Given the description of an element on the screen output the (x, y) to click on. 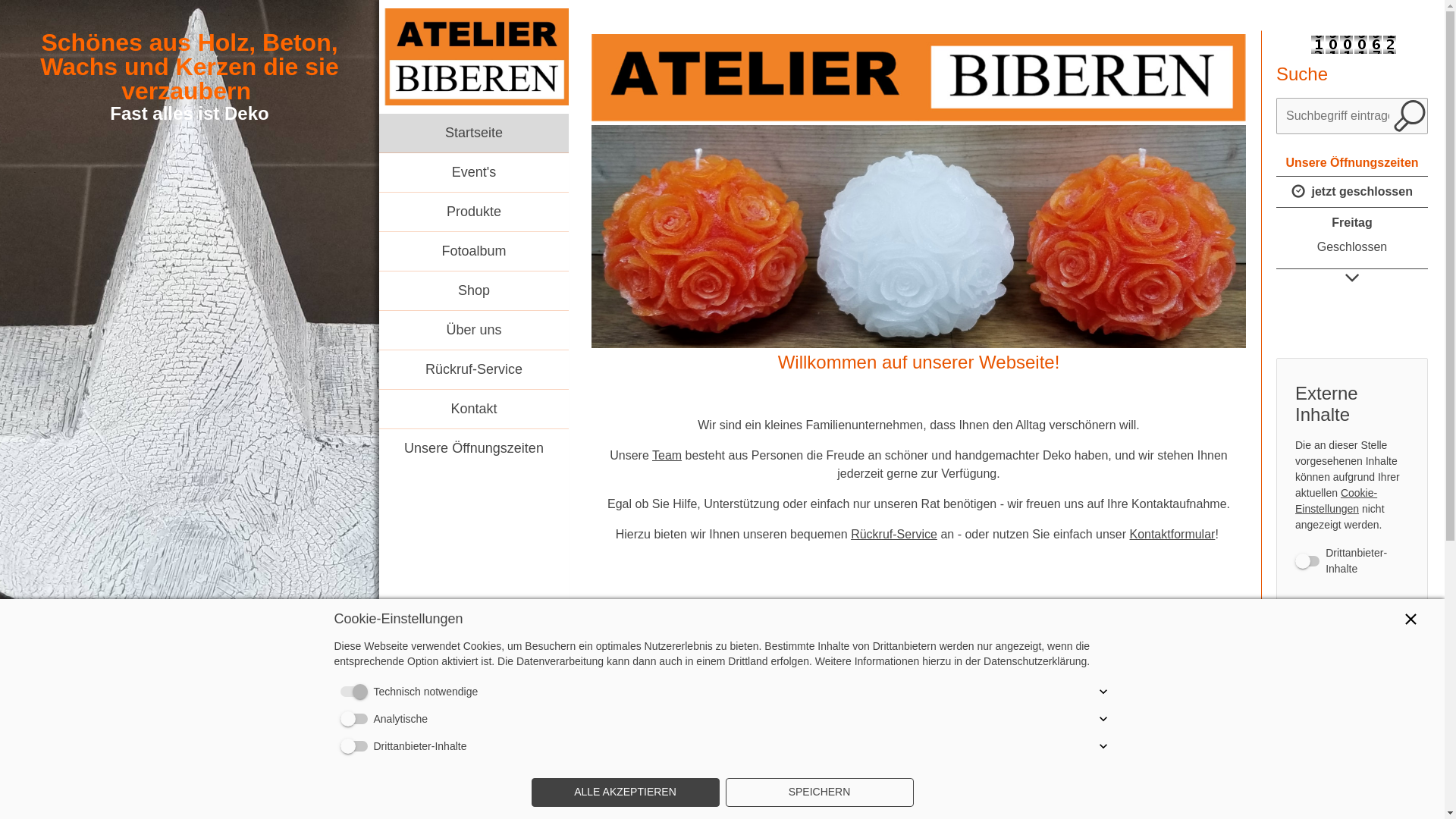
Kontakt Element type: text (473, 409)
Event's Element type: text (473, 172)
Fotoalbum Element type: text (473, 251)
Produkte Element type: text (473, 212)
Shop Element type: text (473, 290)
SPEICHERN Element type: text (818, 792)
ALLE AKZEPTIEREN Element type: text (624, 792)
Startseite Element type: text (473, 133)
Cookie-Einstellungen Element type: text (1336, 500)
Kontaktformular Element type: text (1171, 533)
Team Element type: text (666, 454)
